Given the description of an element on the screen output the (x, y) to click on. 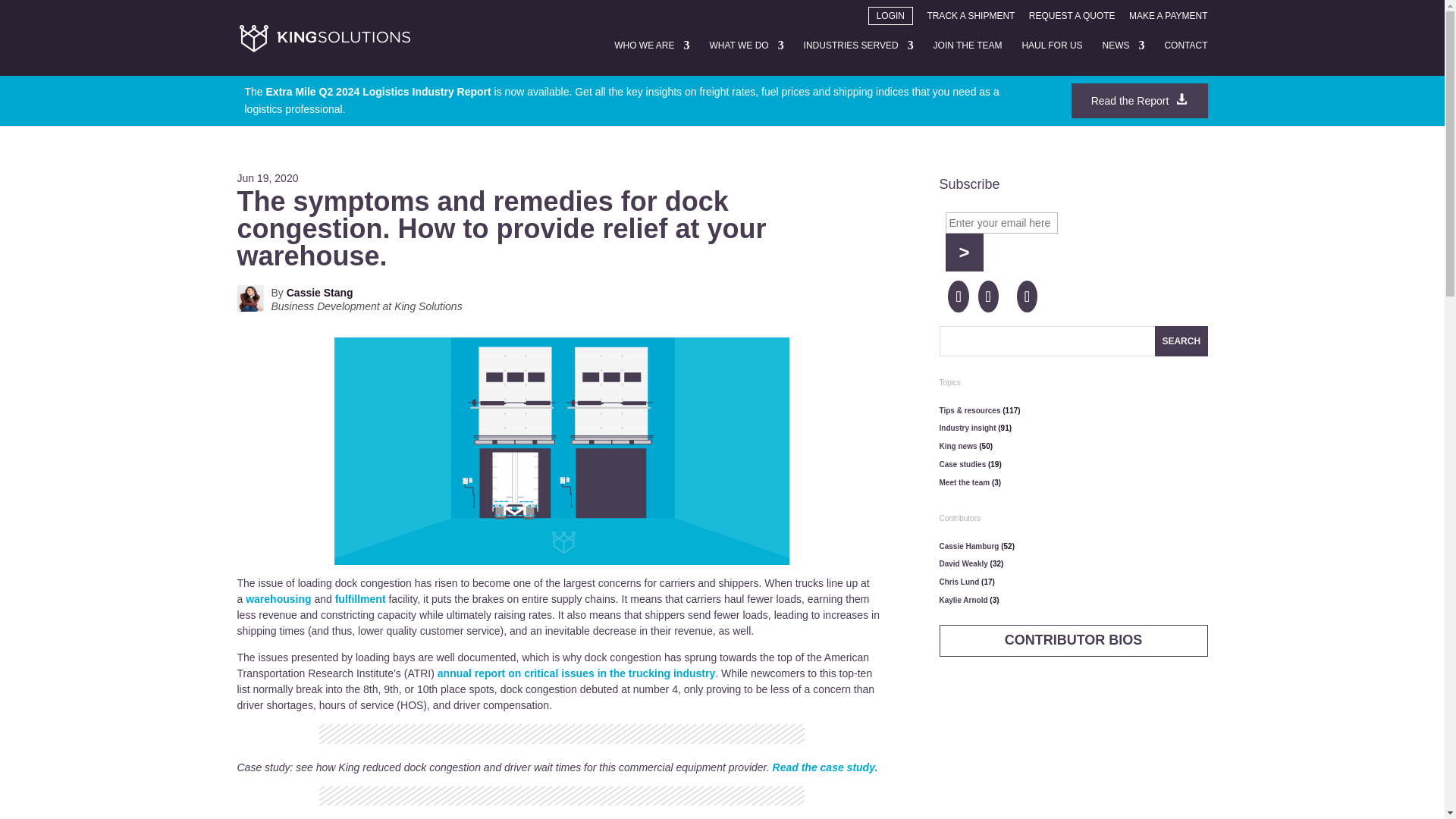
REQUEST A QUOTE (1072, 17)
JOIN THE TEAM (968, 58)
TRACK A SHIPMENT (970, 17)
WHO WE ARE (651, 58)
HAUL FOR US (1051, 58)
MAKE A PAYMENT (1168, 17)
WHAT WE DO (746, 58)
